Given the description of an element on the screen output the (x, y) to click on. 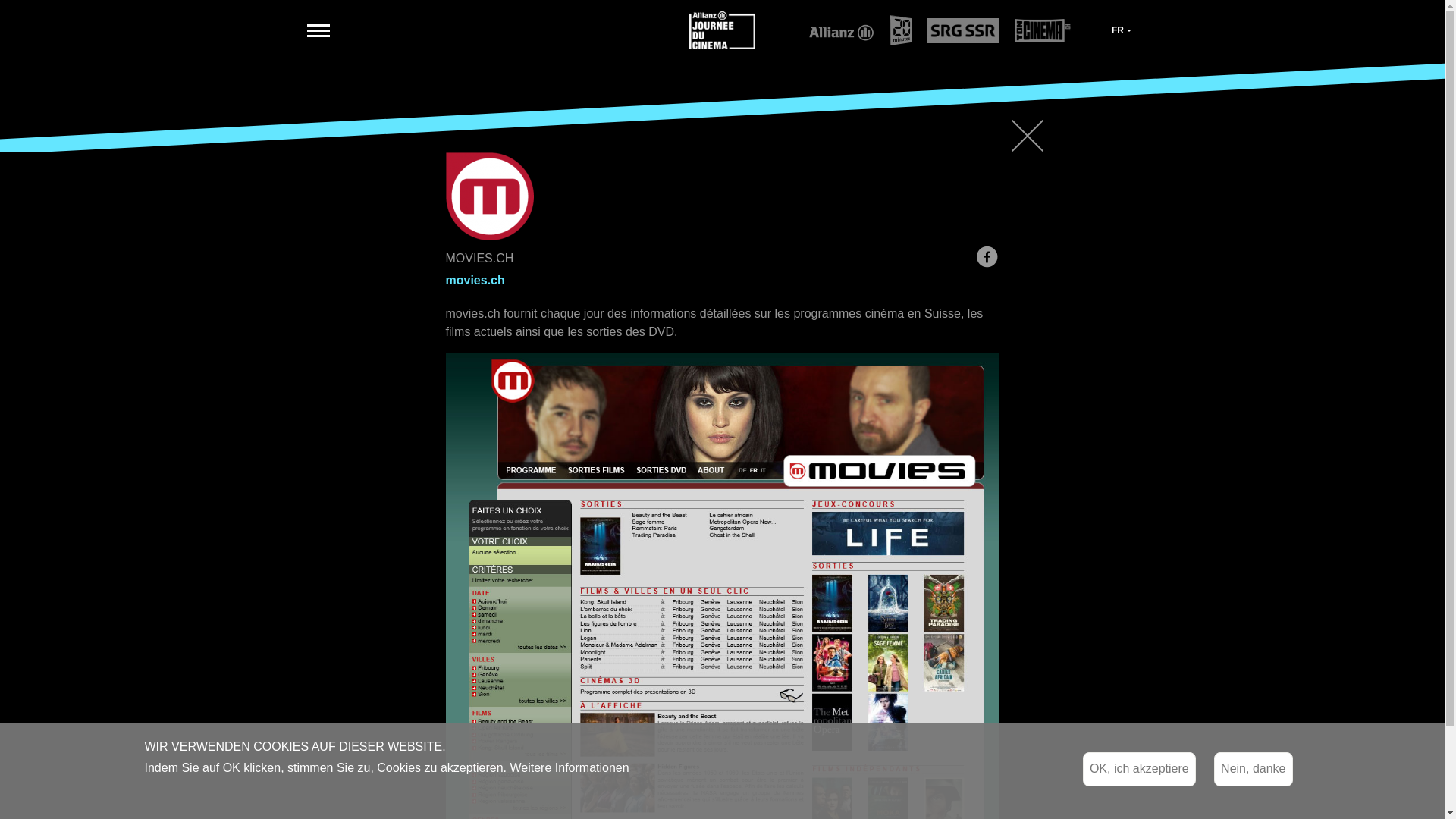
OK, ich akzeptiere Element type: text (1138, 769)
movies.ch Element type: text (475, 279)
Aller au contenu principal Element type: text (0, 0)
FR Element type: text (1121, 29)
Nein, danke Element type: text (1253, 769)
Accueil Element type: hover (722, 28)
Weitere Informationen Element type: text (568, 768)
